Given the description of an element on the screen output the (x, y) to click on. 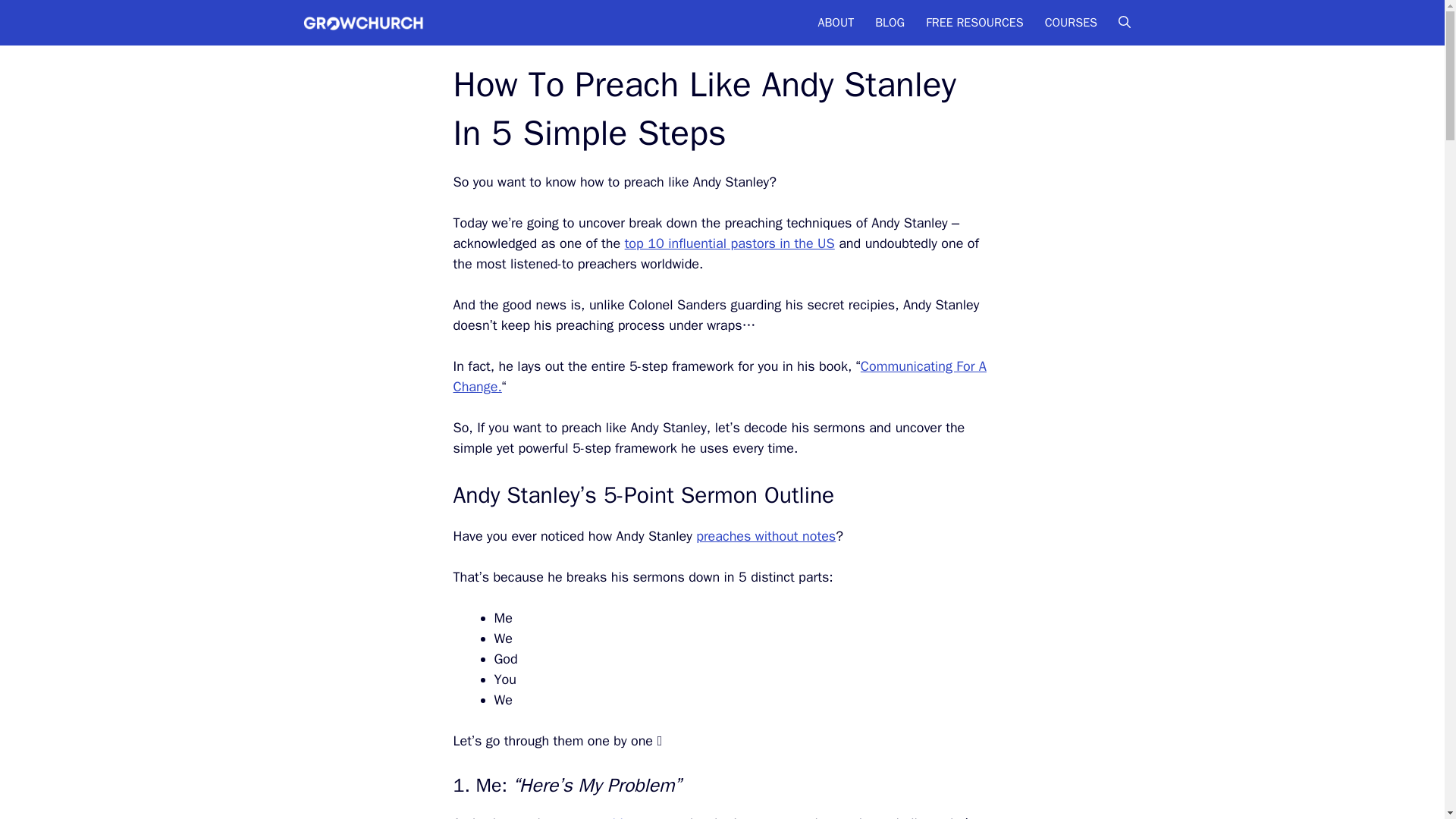
top 10 influential pastors in the US (729, 243)
COURSES (1070, 22)
FREE RESOURCES (974, 22)
How To Preach Without Notes: I Dare You To Try It! (765, 535)
preaches without notes (765, 535)
top 10 influential pastors in the US (729, 243)
How To Start A Sermon Strong: Master The First 90 Seconds (629, 816)
Communicating For A Change. (719, 375)
Communicating For A Change. (719, 375)
starts his sermons (629, 816)
